Given the description of an element on the screen output the (x, y) to click on. 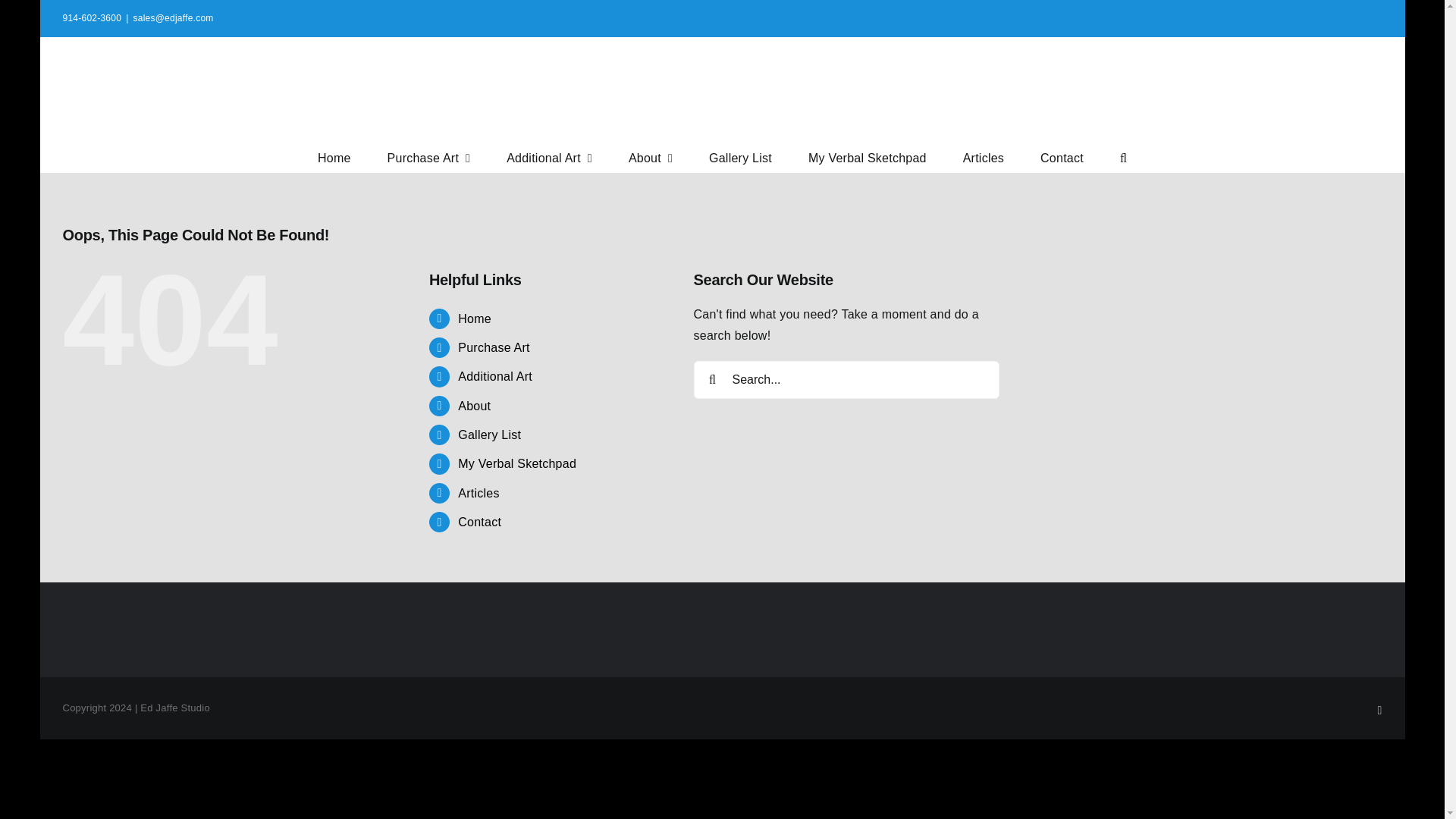
Contact (479, 521)
About (474, 405)
Articles (478, 492)
Gallery List (489, 434)
Purchase Art (493, 347)
About (650, 156)
Additional Art (495, 376)
Contact (1062, 156)
Gallery List (740, 156)
My Verbal Sketchpad (517, 463)
Additional Art (549, 156)
Purchase Art (428, 156)
My Verbal Sketchpad (867, 156)
Home (475, 318)
Home (333, 156)
